Given the description of an element on the screen output the (x, y) to click on. 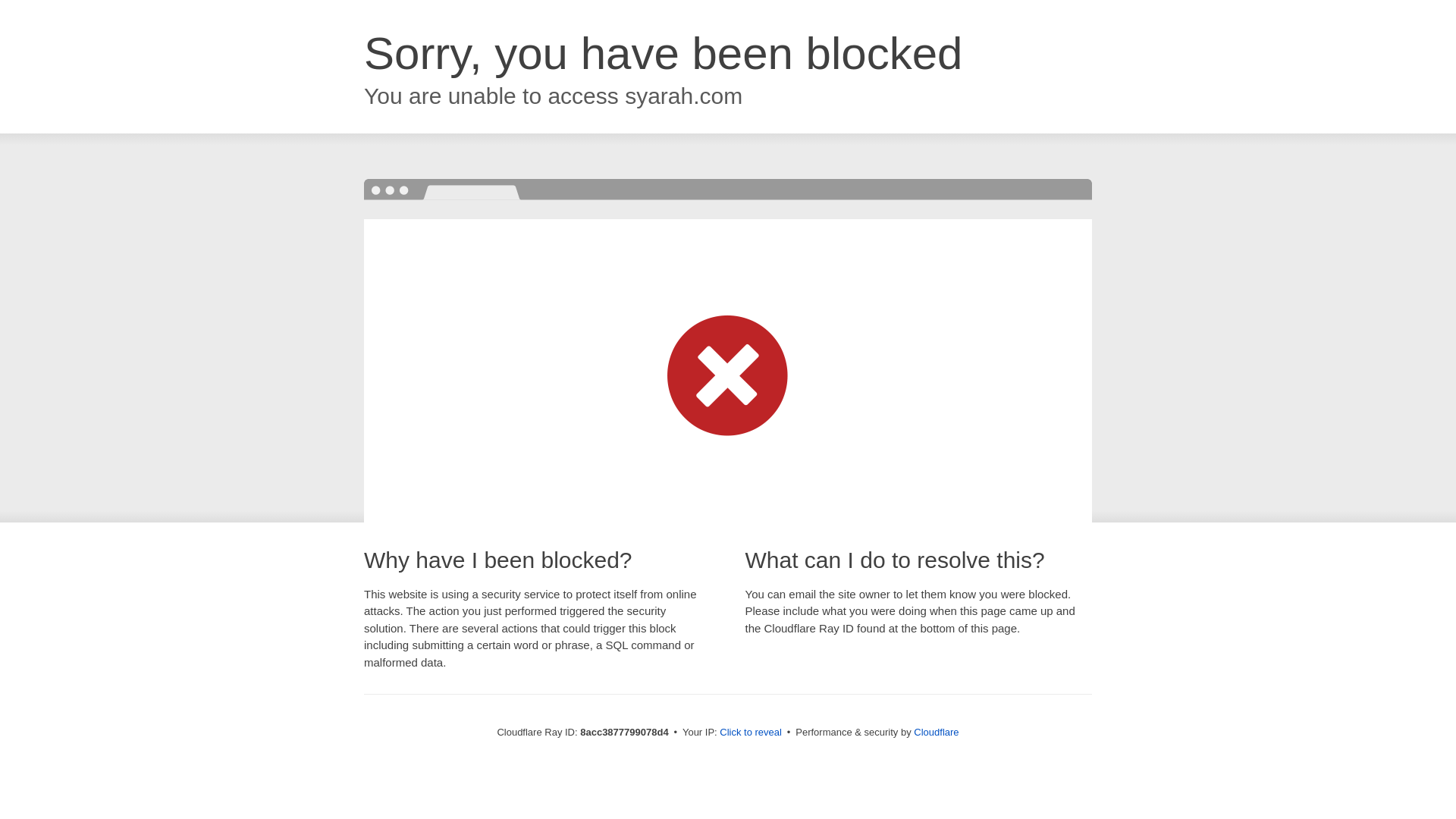
Click to reveal (750, 732)
Cloudflare (936, 731)
